Given the description of an element on the screen output the (x, y) to click on. 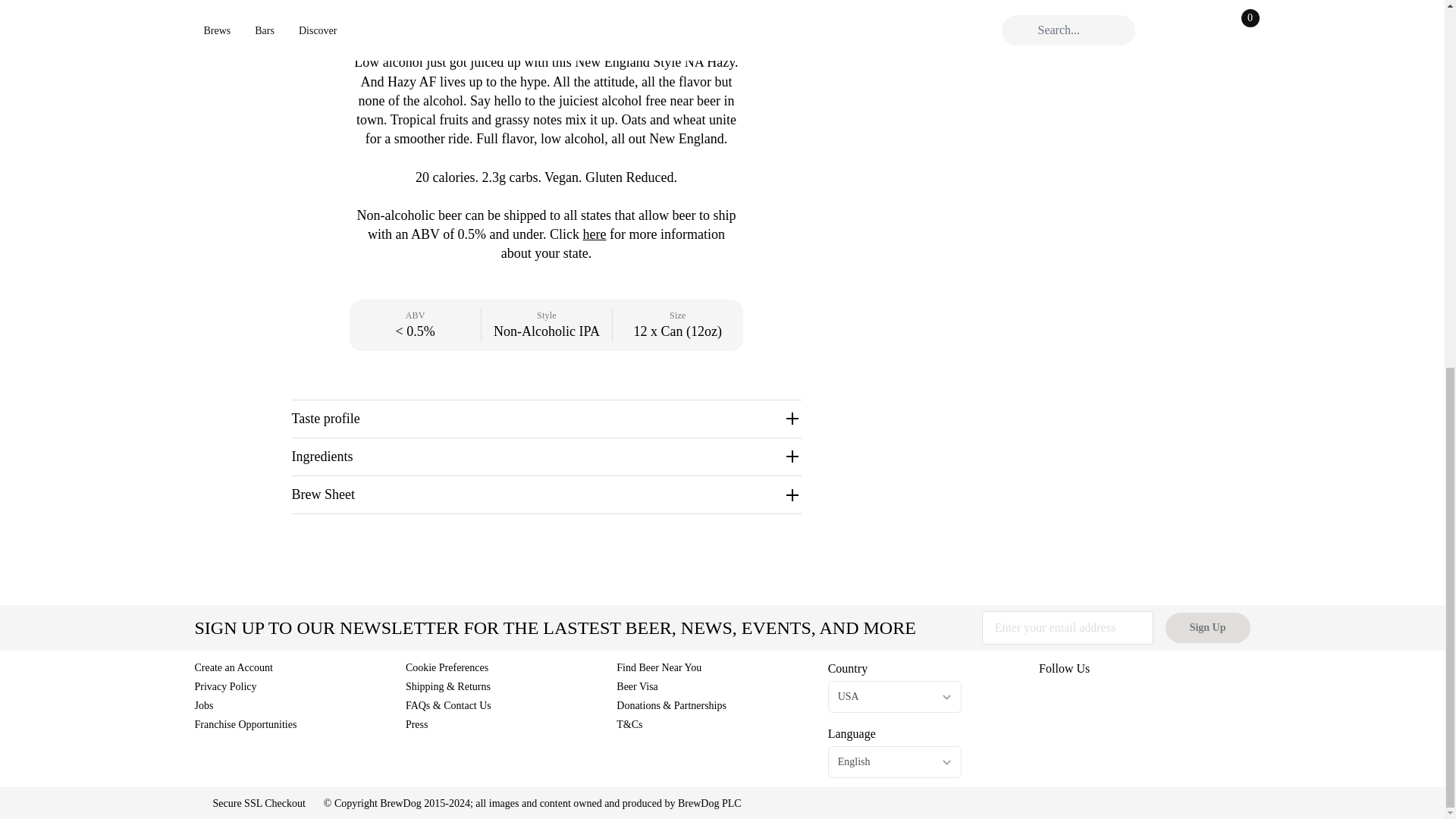
Beer Visa (636, 686)
Find Beer Near You (658, 667)
Press (417, 724)
here (595, 233)
Sign Up (1208, 627)
Privacy Policy (224, 686)
Franchise Opportunities (245, 724)
Jobs (202, 705)
Create an Account (232, 667)
